Given the description of an element on the screen output the (x, y) to click on. 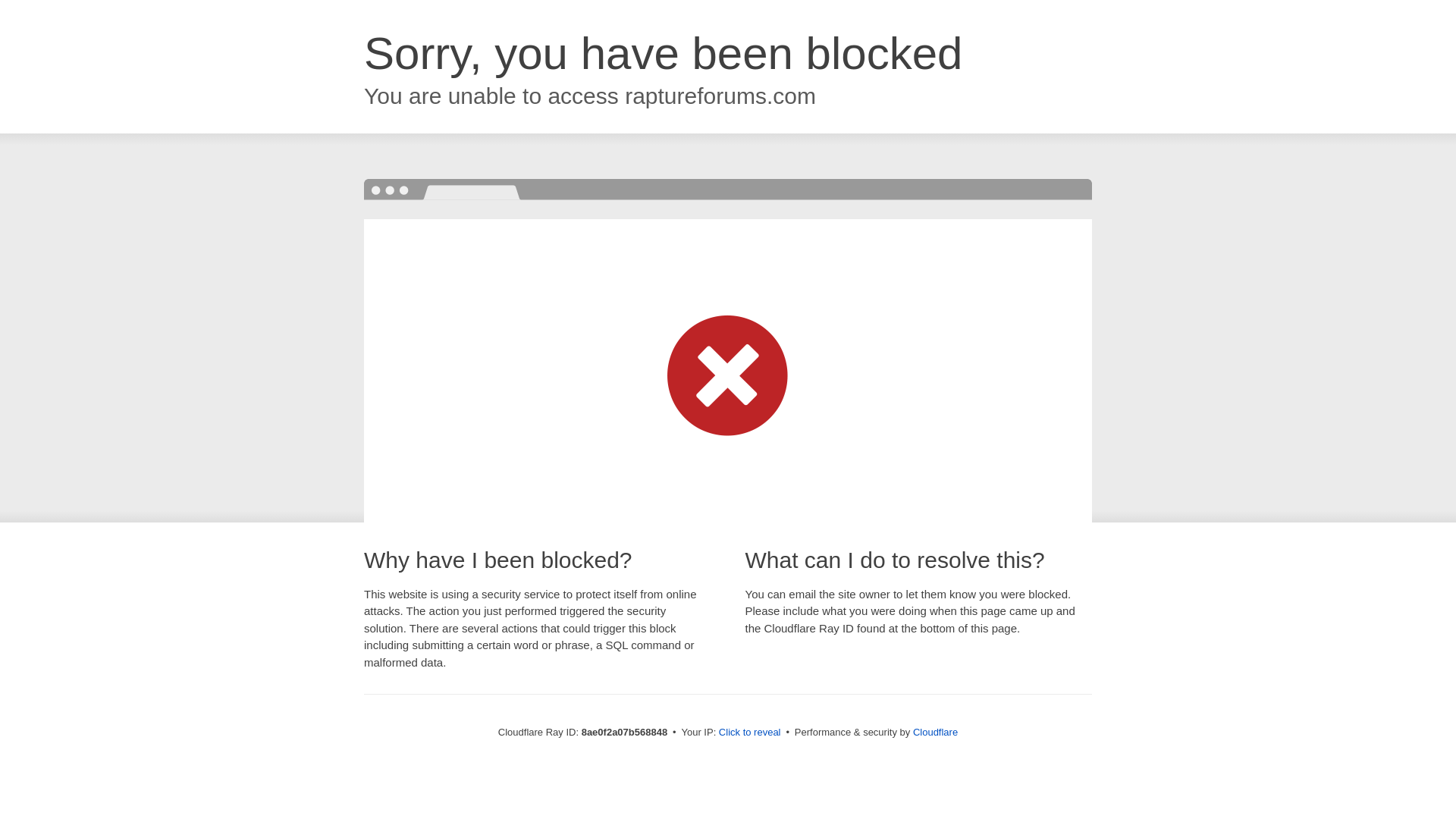
Cloudflare (935, 731)
Click to reveal (749, 732)
